Given the description of an element on the screen output the (x, y) to click on. 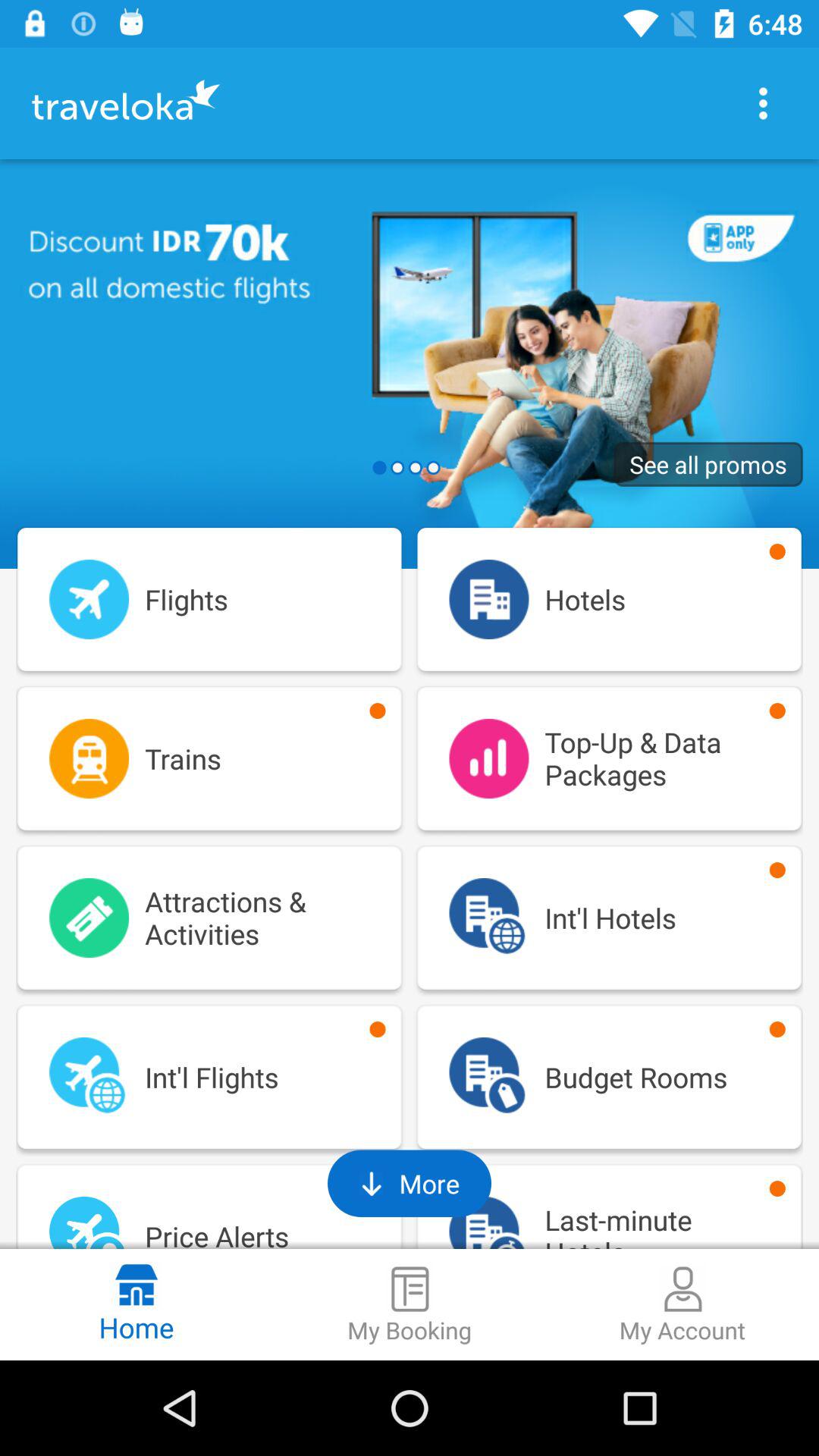
more options (763, 103)
